Given the description of an element on the screen output the (x, y) to click on. 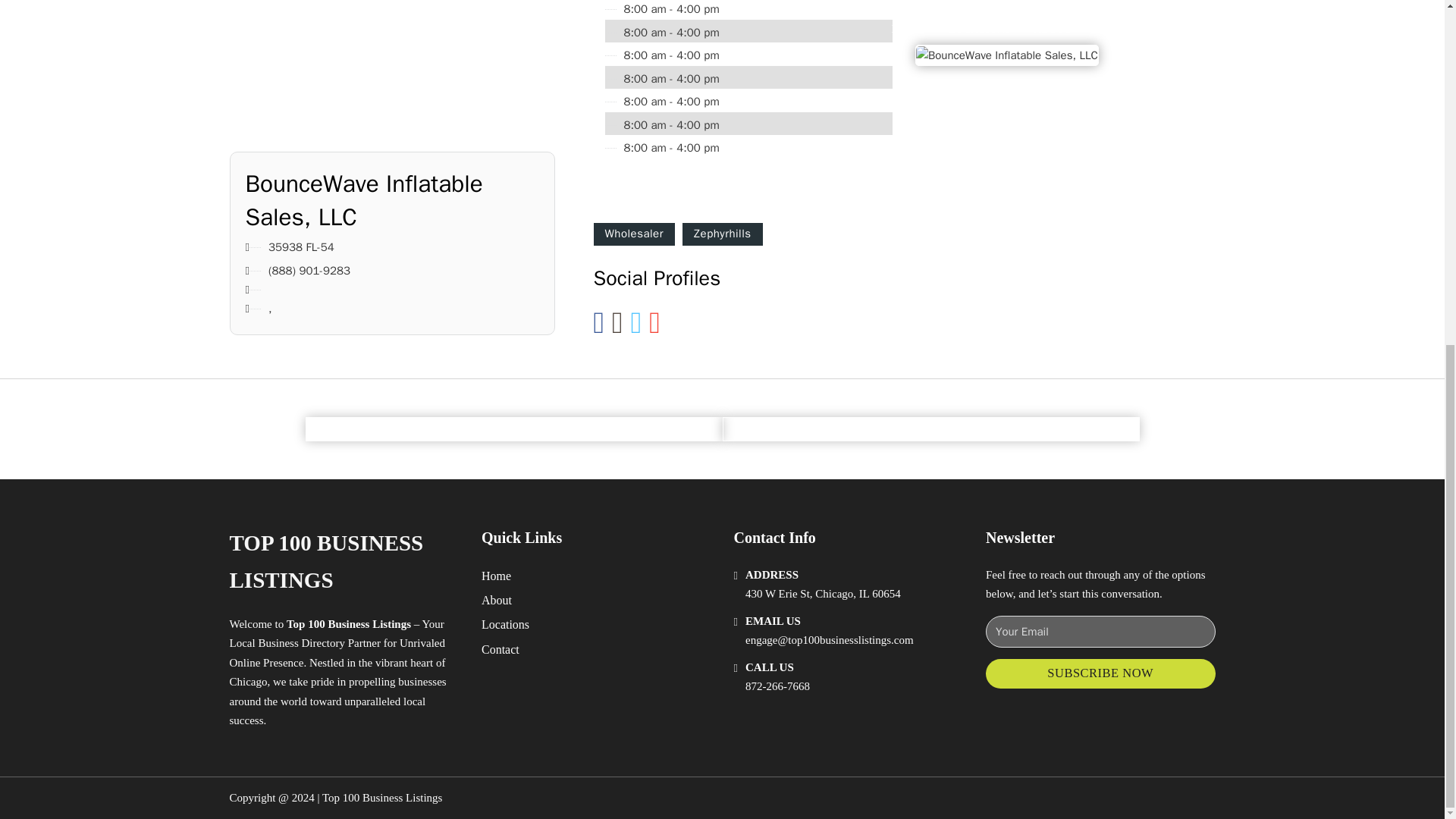
Locations (505, 624)
Contact (500, 649)
Zephyrhills (722, 233)
About (496, 599)
872-266-7668 (777, 686)
Home (496, 575)
TOP 100 BUSINESS LISTINGS (343, 561)
Wholesaler (633, 233)
SUBSCRIBE NOW (1100, 673)
